Given the description of an element on the screen output the (x, y) to click on. 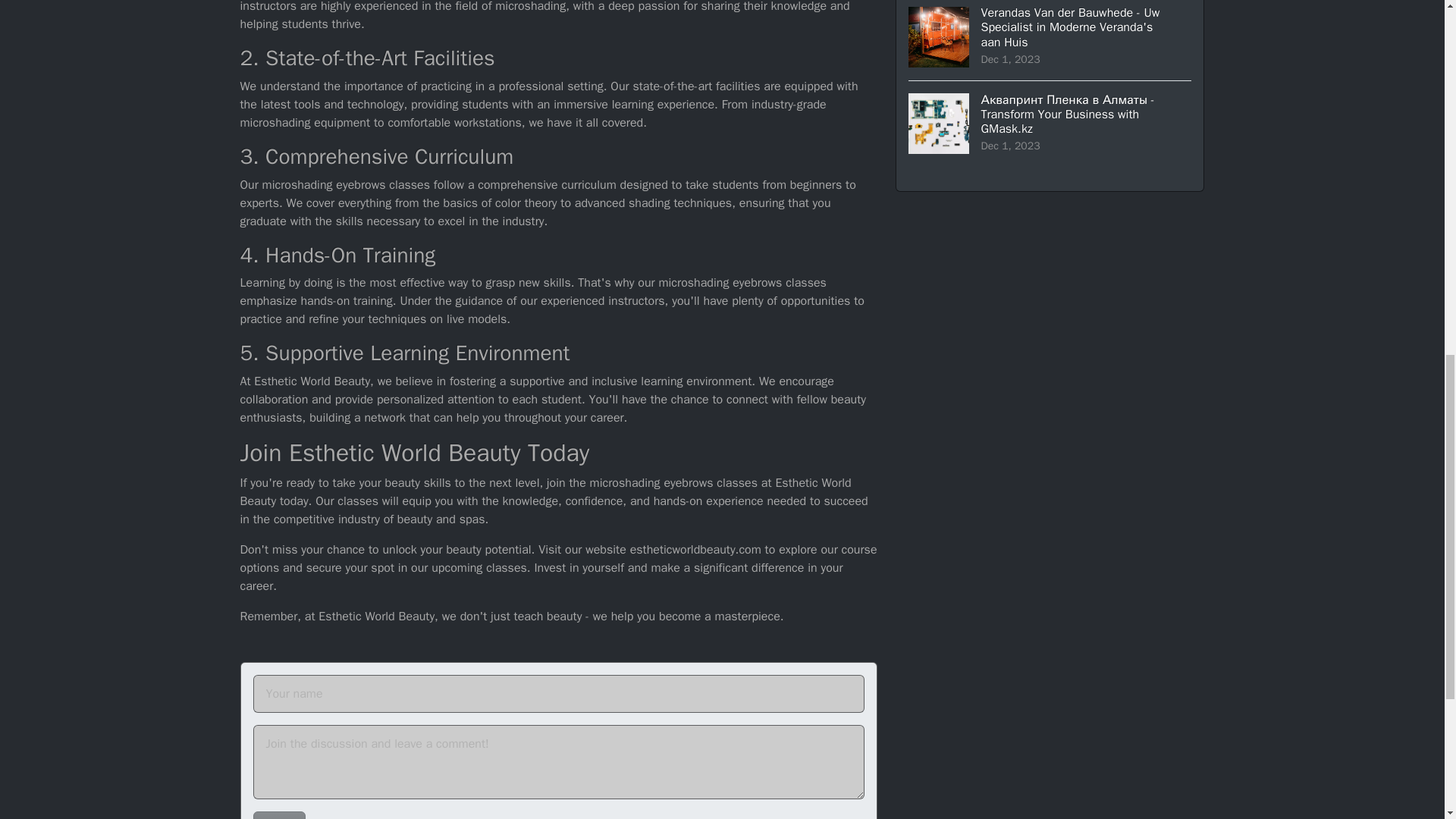
Send (279, 815)
Send (279, 815)
